Given the description of an element on the screen output the (x, y) to click on. 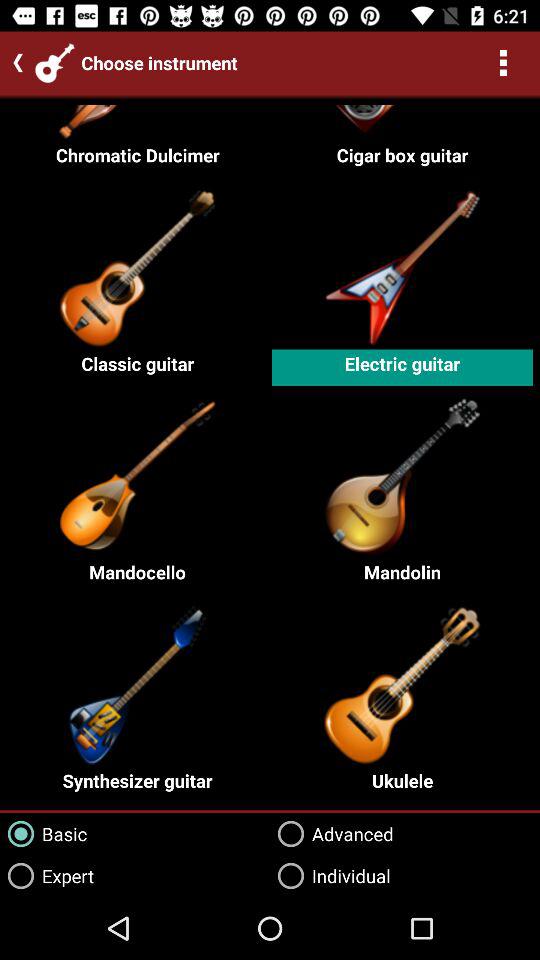
choose the advanced (331, 834)
